Given the description of an element on the screen output the (x, y) to click on. 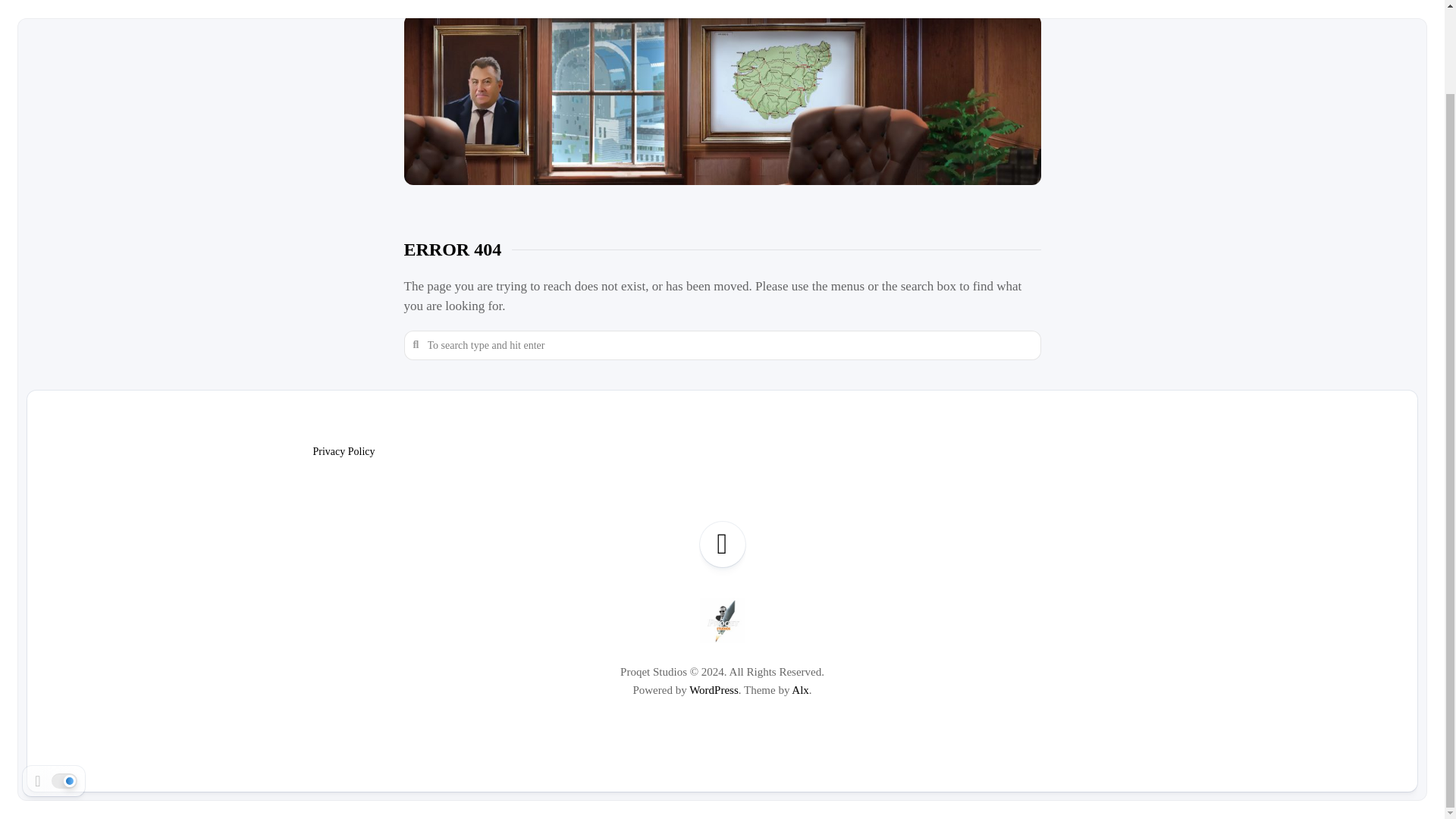
WordPress (713, 689)
To search type and hit enter (722, 345)
Privacy Policy (343, 451)
Alx (800, 689)
To search type and hit enter (722, 345)
